Given the description of an element on the screen output the (x, y) to click on. 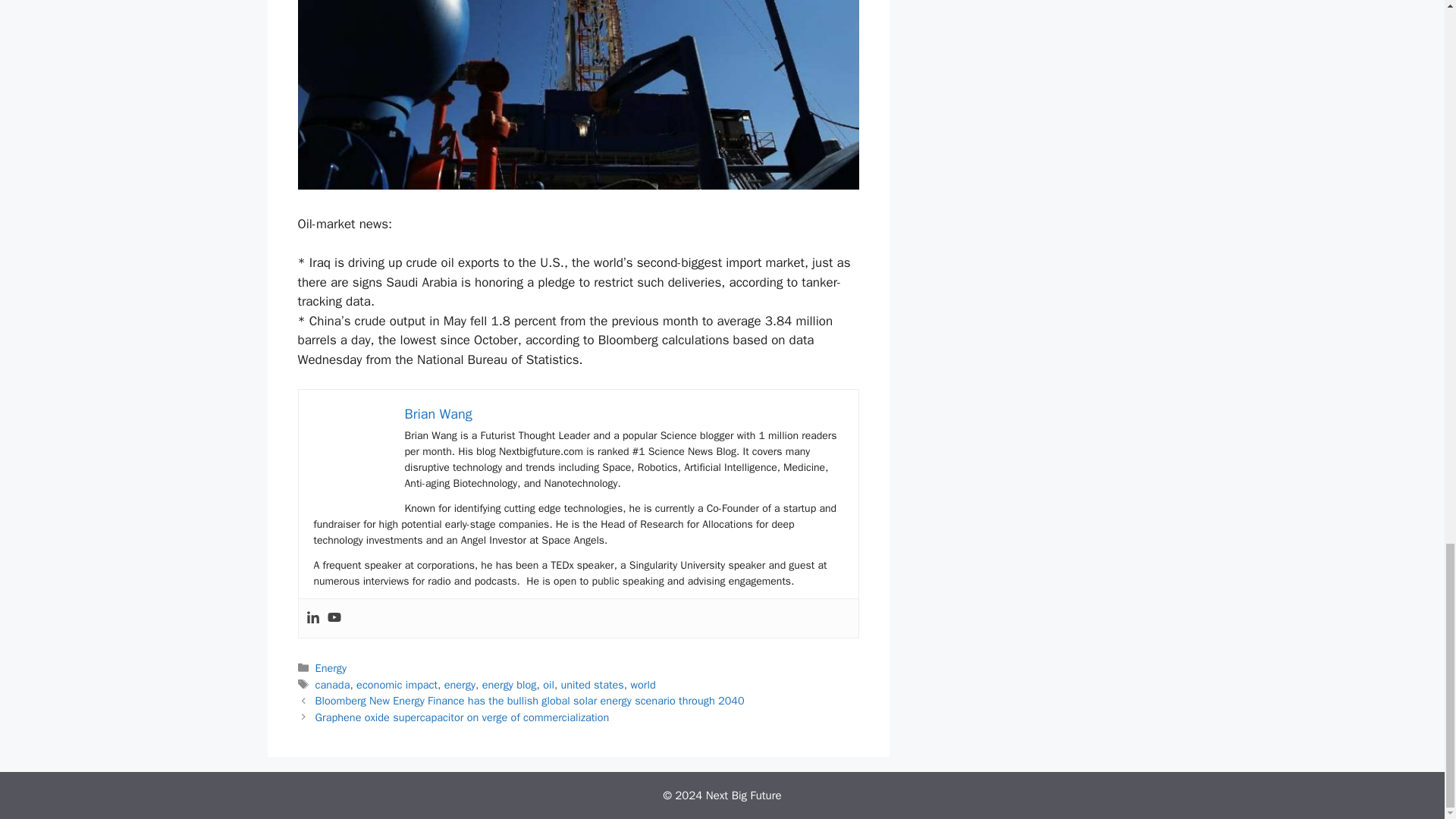
Energy (331, 667)
Graphene oxide supercapacitor on verge of commercialization (462, 716)
energy blog (509, 684)
canada (332, 684)
economic impact (397, 684)
Brian Wang (437, 413)
world (643, 684)
united states (592, 684)
energy (460, 684)
